Given the description of an element on the screen output the (x, y) to click on. 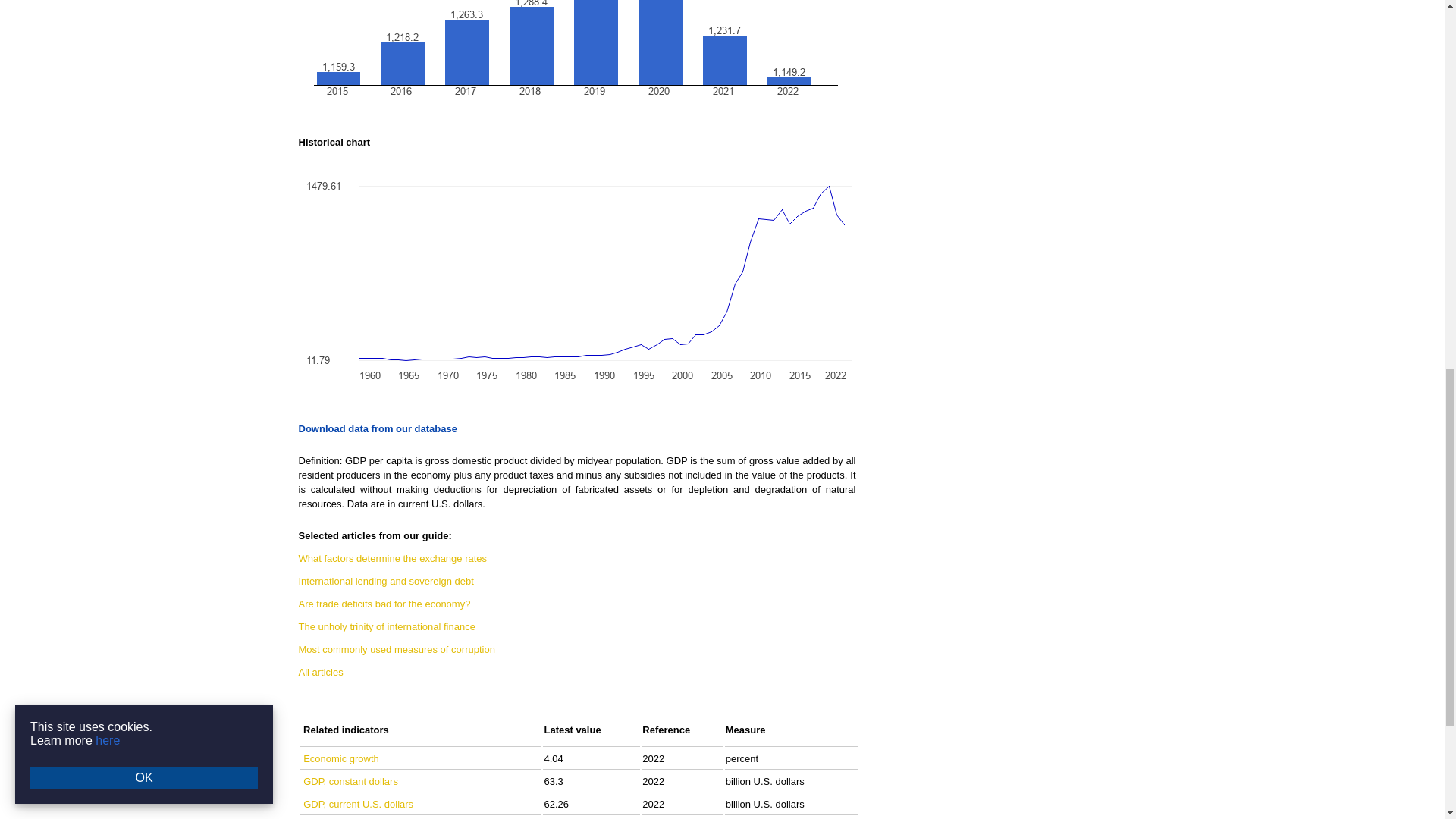
What factors determine the exchange rates (392, 558)
Download data from our database (377, 428)
